Given the description of an element on the screen output the (x, y) to click on. 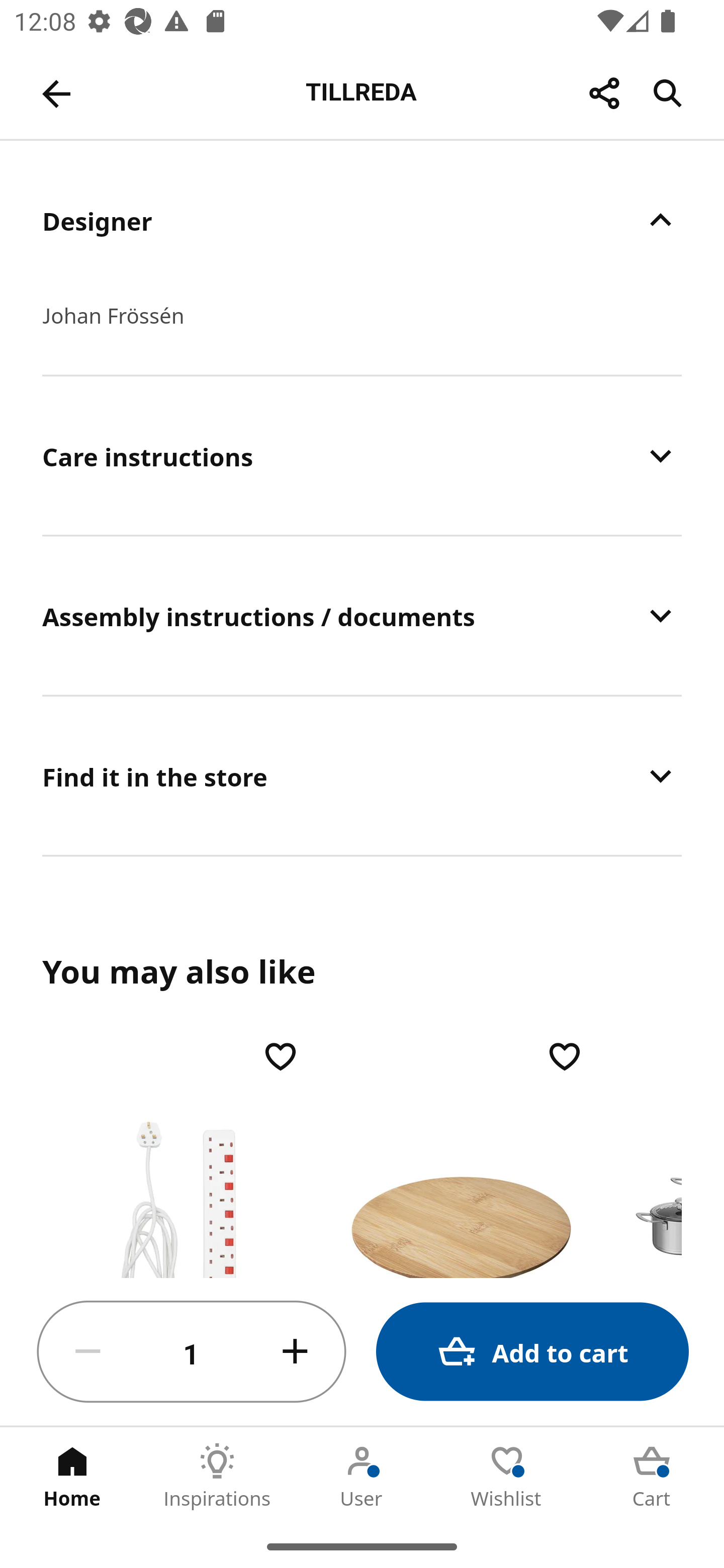
Designer (361, 219)
Care instructions (361, 455)
Assembly instructions / documents (361, 615)
Find it in the store (361, 775)
Add to cart (531, 1352)
1 (191, 1352)
Home
Tab 1 of 5 (72, 1476)
Inspirations
Tab 2 of 5 (216, 1476)
User
Tab 3 of 5 (361, 1476)
Wishlist
Tab 4 of 5 (506, 1476)
Cart
Tab 5 of 5 (651, 1476)
